Given the description of an element on the screen output the (x, y) to click on. 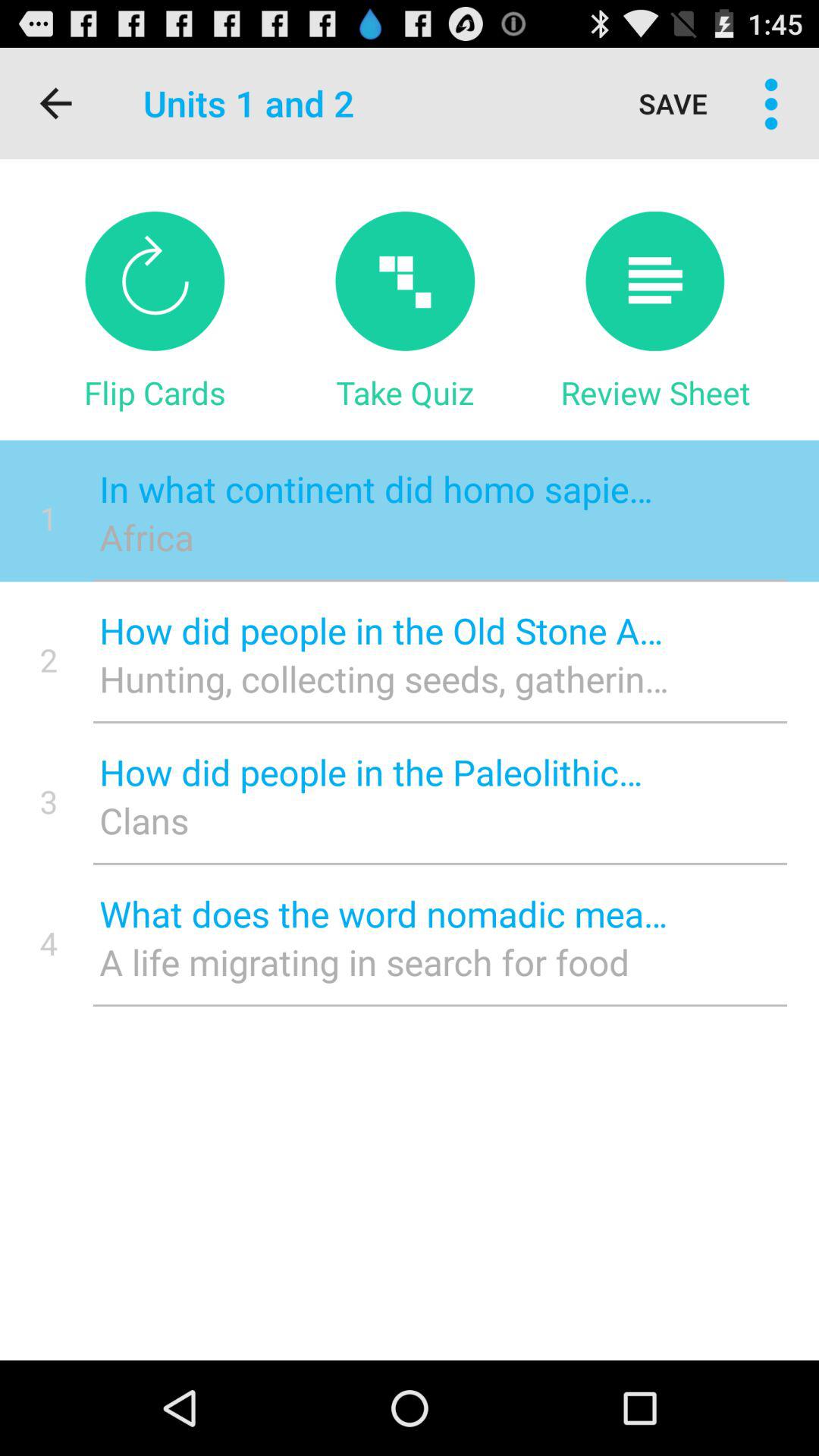
flip until in what continent item (384, 488)
